Given the description of an element on the screen output the (x, y) to click on. 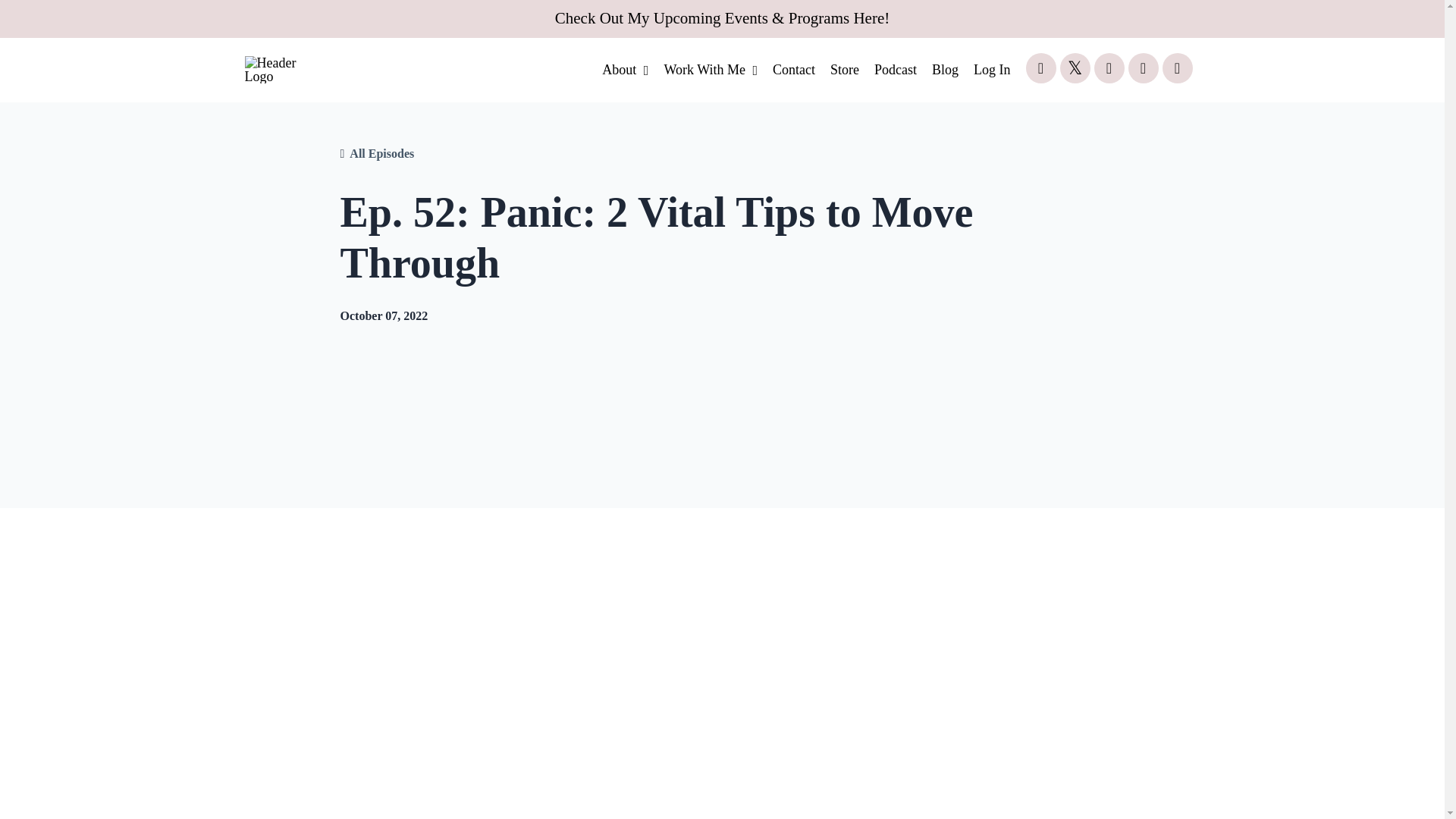
Work With Me (710, 69)
Contact (794, 69)
Store (844, 69)
Blog (944, 69)
Log In (992, 69)
Podcast (896, 69)
All Episodes (381, 153)
About (624, 69)
